Given the description of an element on the screen output the (x, y) to click on. 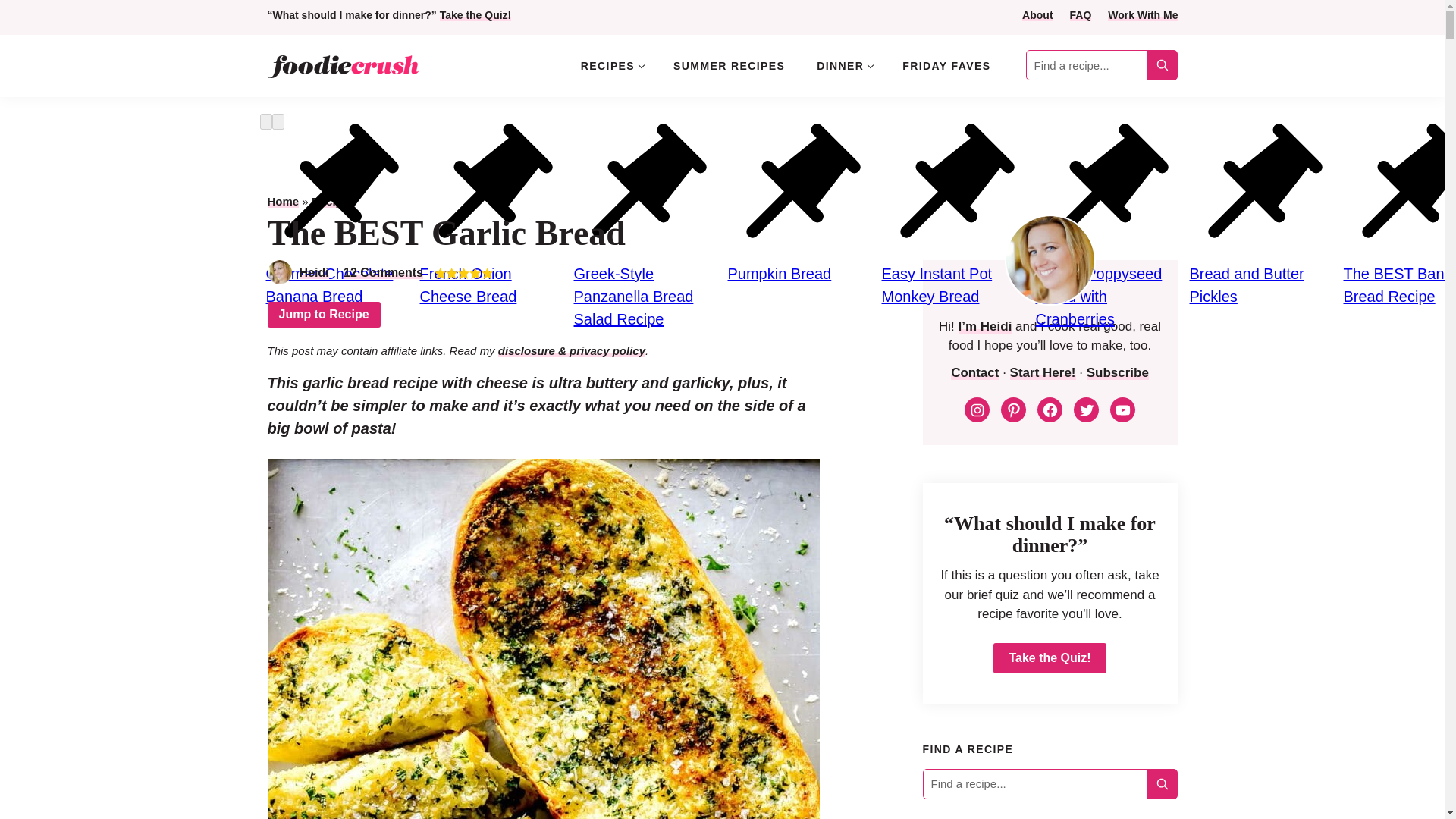
About (1037, 15)
Submit search (1162, 65)
Submit search (1162, 783)
Submit search (1162, 65)
Submit search (1162, 65)
SUMMER RECIPES (728, 65)
FRIDAY FAVES (946, 65)
DINNER (843, 65)
Take the Quiz! (475, 15)
Work With Me (1142, 15)
FAQ (1081, 15)
Submit search (1162, 783)
RECIPES (611, 65)
